Given the description of an element on the screen output the (x, y) to click on. 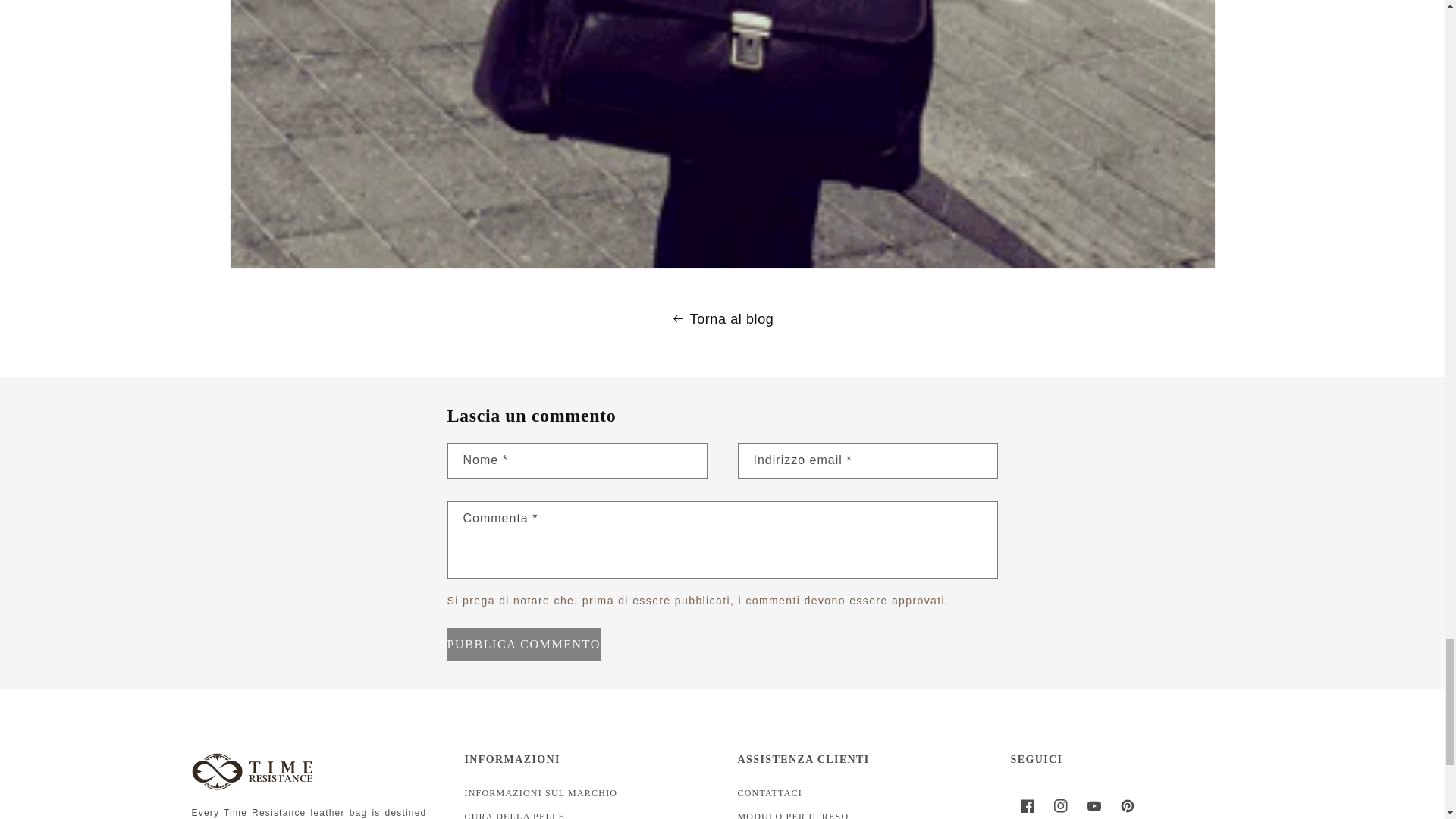
Pubblica commento (523, 644)
Pubblica commento (523, 644)
